Given the description of an element on the screen output the (x, y) to click on. 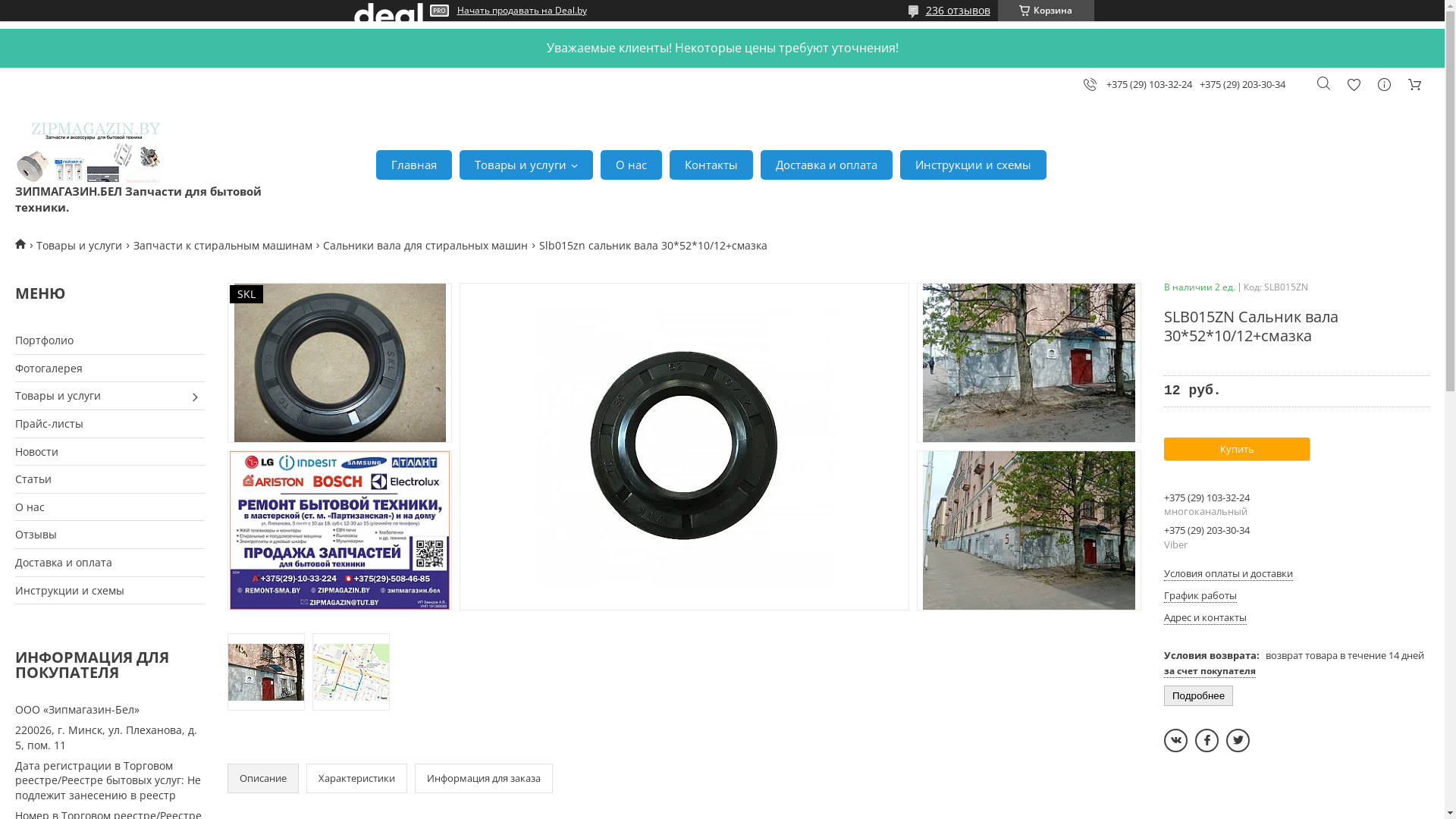
facebook Element type: hover (1206, 740)
twitter Element type: hover (1237, 740)
